Given the description of an element on the screen output the (x, y) to click on. 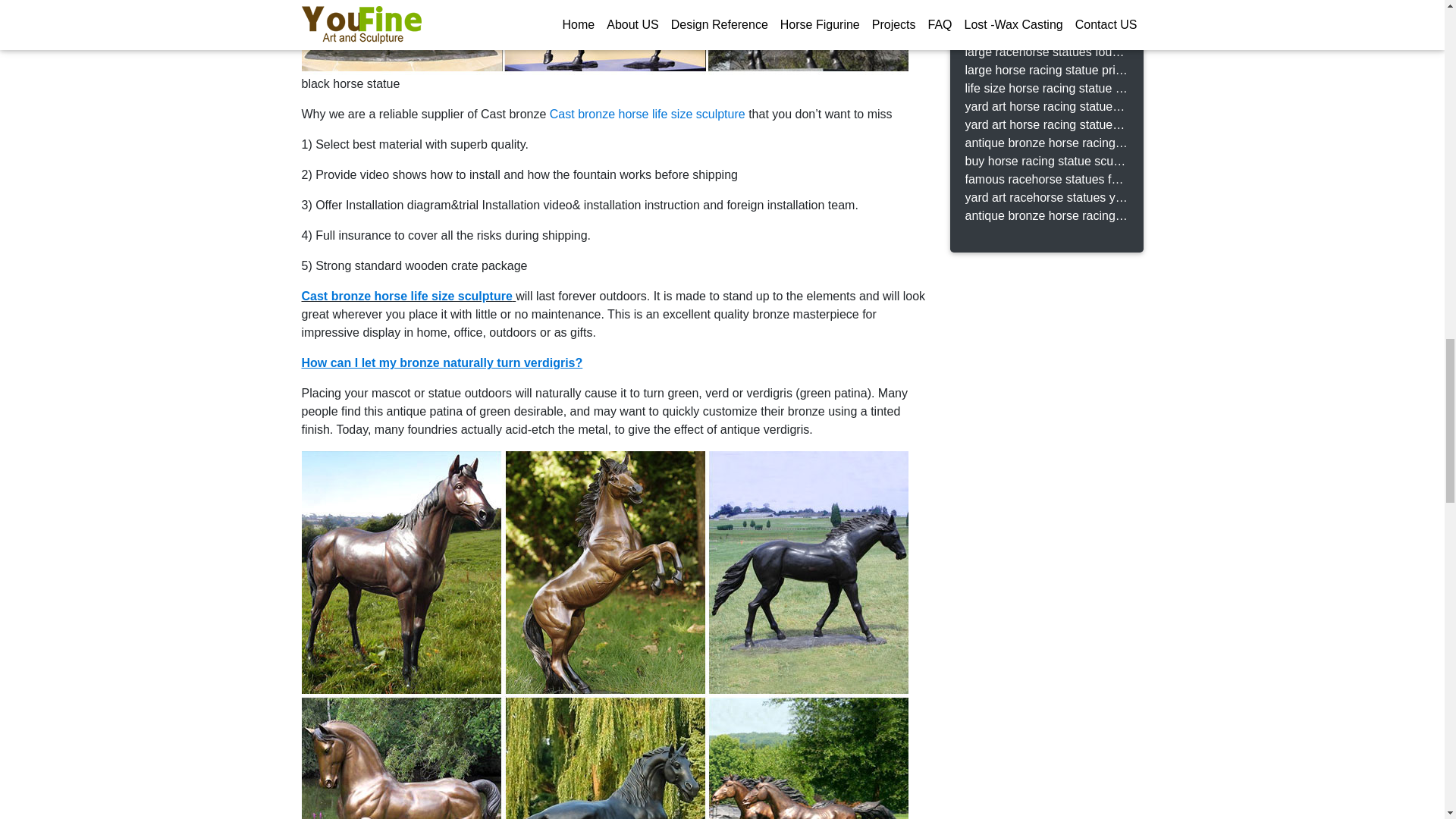
antique bronze horse racing statues cost for garden (1044, 143)
antique bronze racing jockey horse statue designs for school (1044, 15)
yard art racehorse statues yard decoration China (1044, 198)
life size horse racing statue school mascots China (1044, 88)
Cast bronze horse life size sculpture (406, 295)
large horse racing statue price Australia (1044, 70)
yard art horse racing statues foundry America (1044, 106)
life size horse racing statue school mascots China (1044, 88)
antique bronze horse racing statue cost for school (1044, 216)
buy horse racing statue sculpture with jockey cost India (1044, 161)
